Given the description of an element on the screen output the (x, y) to click on. 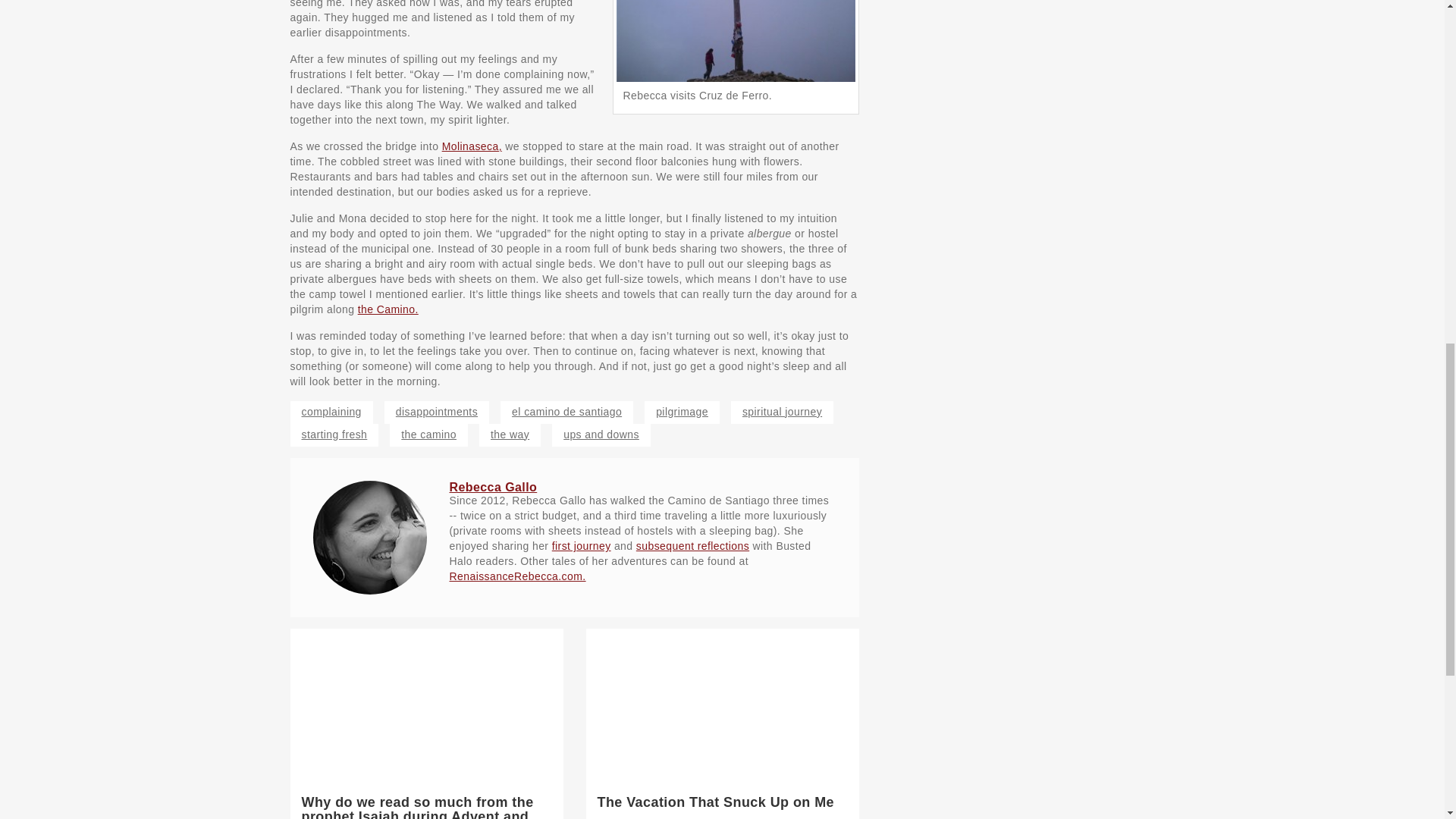
spiritual journey (781, 412)
the Camino. (388, 309)
pilgrimage (682, 412)
Rebecca Gallo (492, 486)
complaining (330, 412)
Molinaseca, (472, 146)
starting fresh (333, 435)
the way (509, 435)
cruz-de-fero-large-image (734, 40)
disappointments (436, 412)
